Given the description of an element on the screen output the (x, y) to click on. 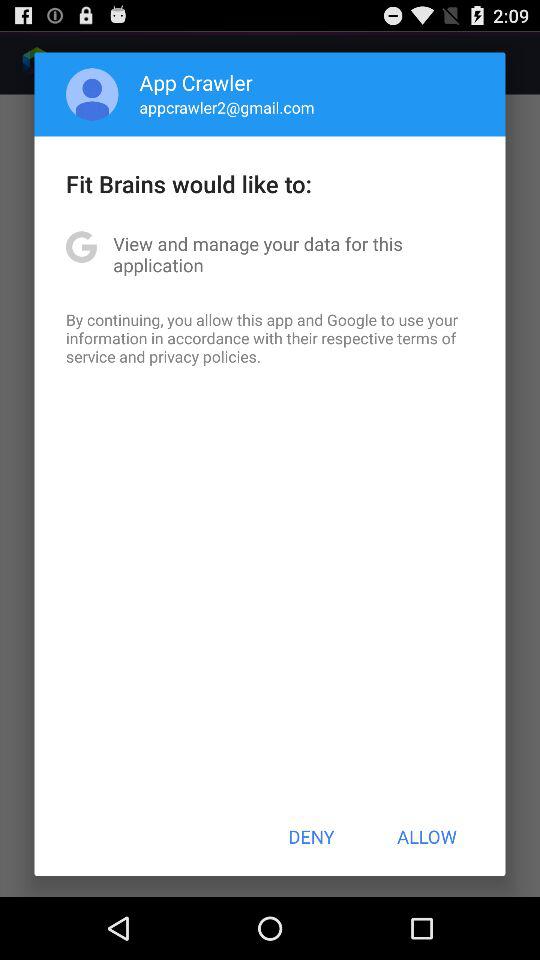
flip to deny item (311, 836)
